Given the description of an element on the screen output the (x, y) to click on. 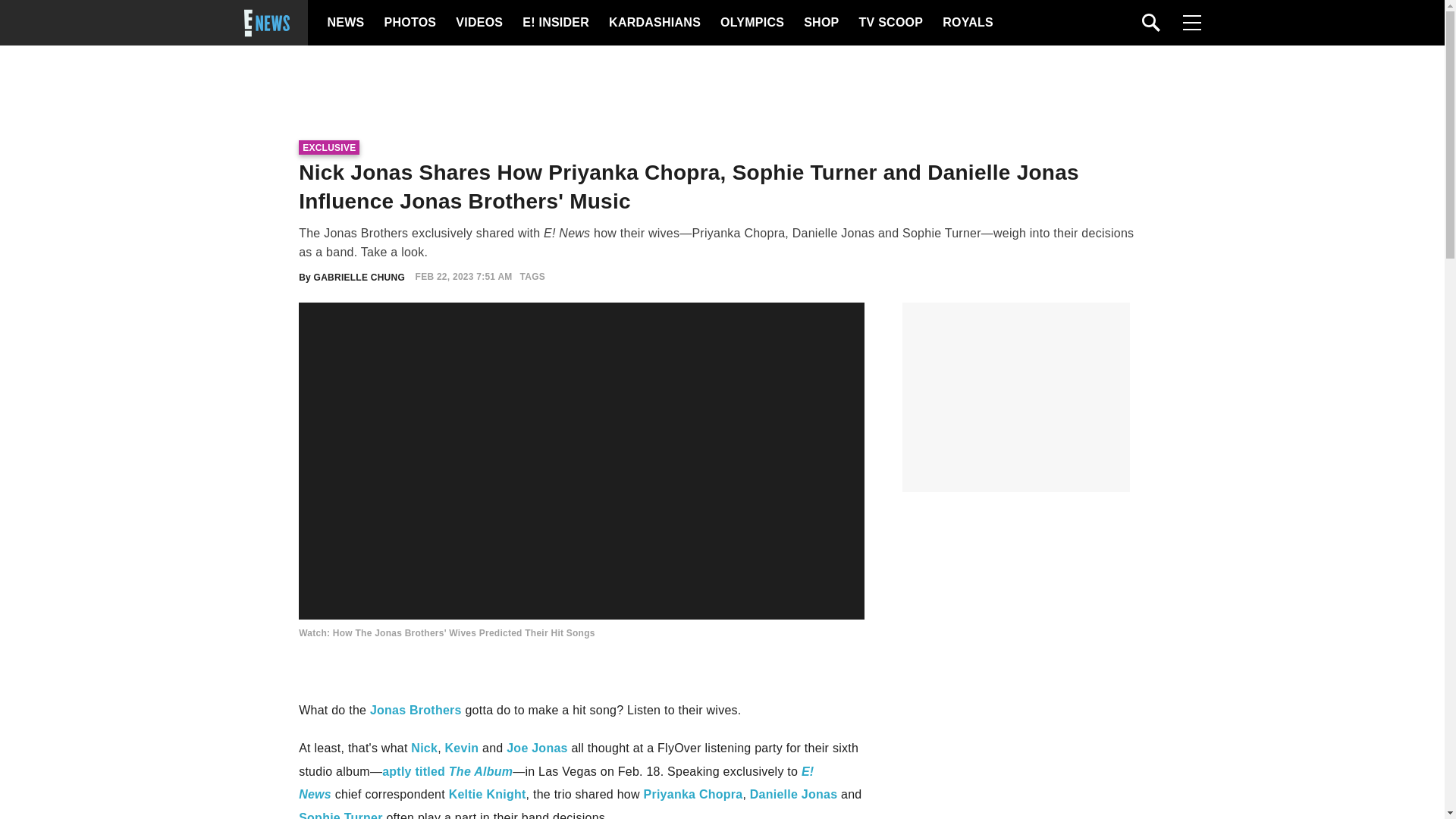
aptly titled The Album (446, 771)
Joe Jonas (536, 748)
GABRIELLE CHUNG (359, 276)
VIDEOS (478, 22)
ROYALS (966, 22)
KARDASHIANS (653, 22)
E! News (555, 782)
TV SCOOP (890, 22)
NEWS (345, 22)
E! INSIDER (555, 22)
